Given the description of an element on the screen output the (x, y) to click on. 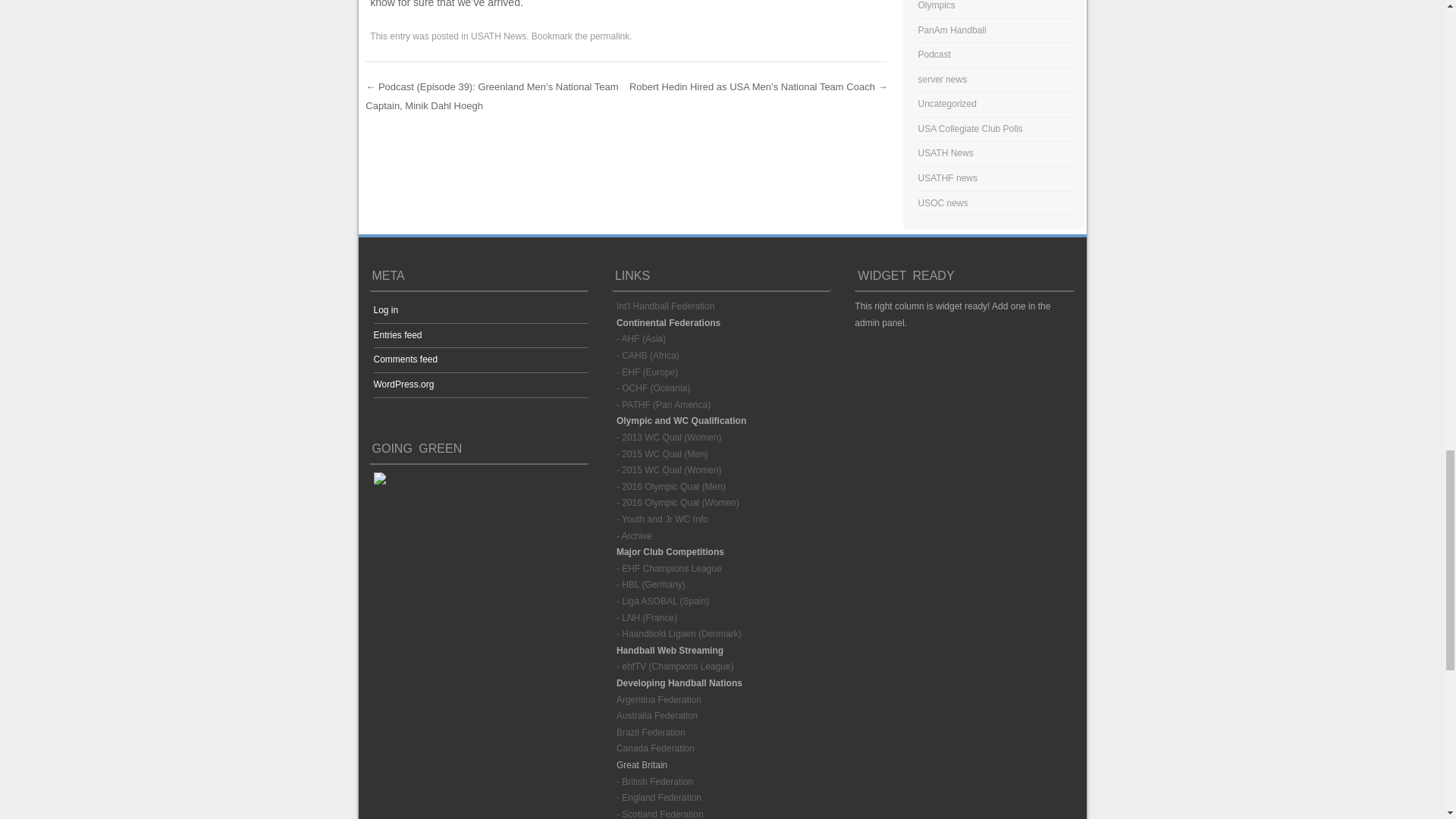
USATH News (497, 36)
permalink (608, 36)
